Given the description of an element on the screen output the (x, y) to click on. 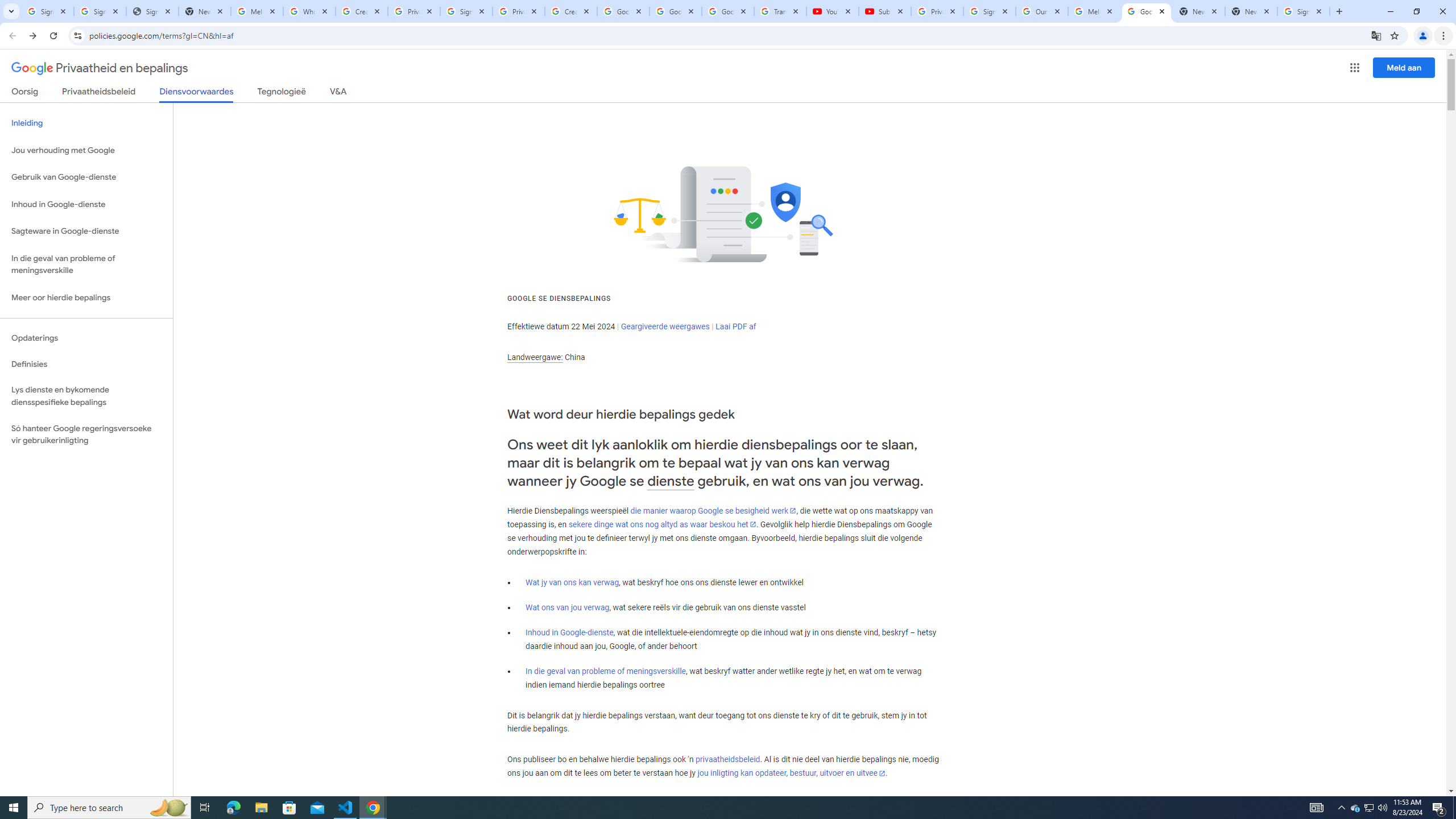
Create your Google Account (571, 11)
Geargiveerde weergawes (665, 326)
In die geval van probleme of meningsverskille (605, 670)
Sign in - Google Accounts (47, 11)
Oorsig (25, 93)
Privaatheidsbeleid (98, 93)
Privaatheid en bepalings (99, 68)
Translate this page (1376, 35)
Diensvoorwaardes (196, 94)
